Given the description of an element on the screen output the (x, y) to click on. 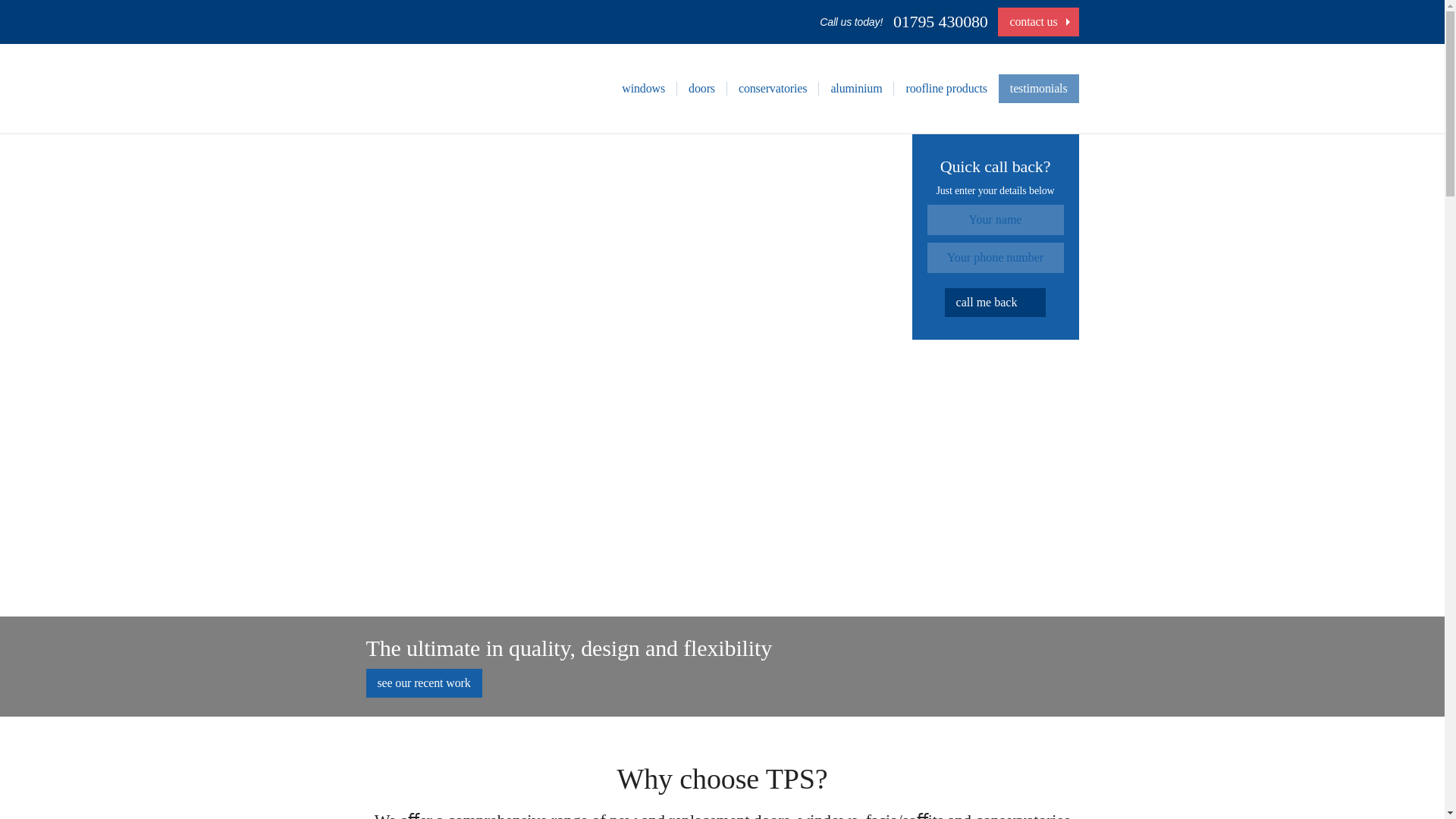
aluminium (855, 88)
see our recent work (423, 683)
windows (643, 88)
testimonials (1038, 88)
contact us (1037, 21)
call me back (995, 302)
roofline products (946, 88)
call me back (995, 302)
conservatories (772, 88)
doors (701, 88)
